Given the description of an element on the screen output the (x, y) to click on. 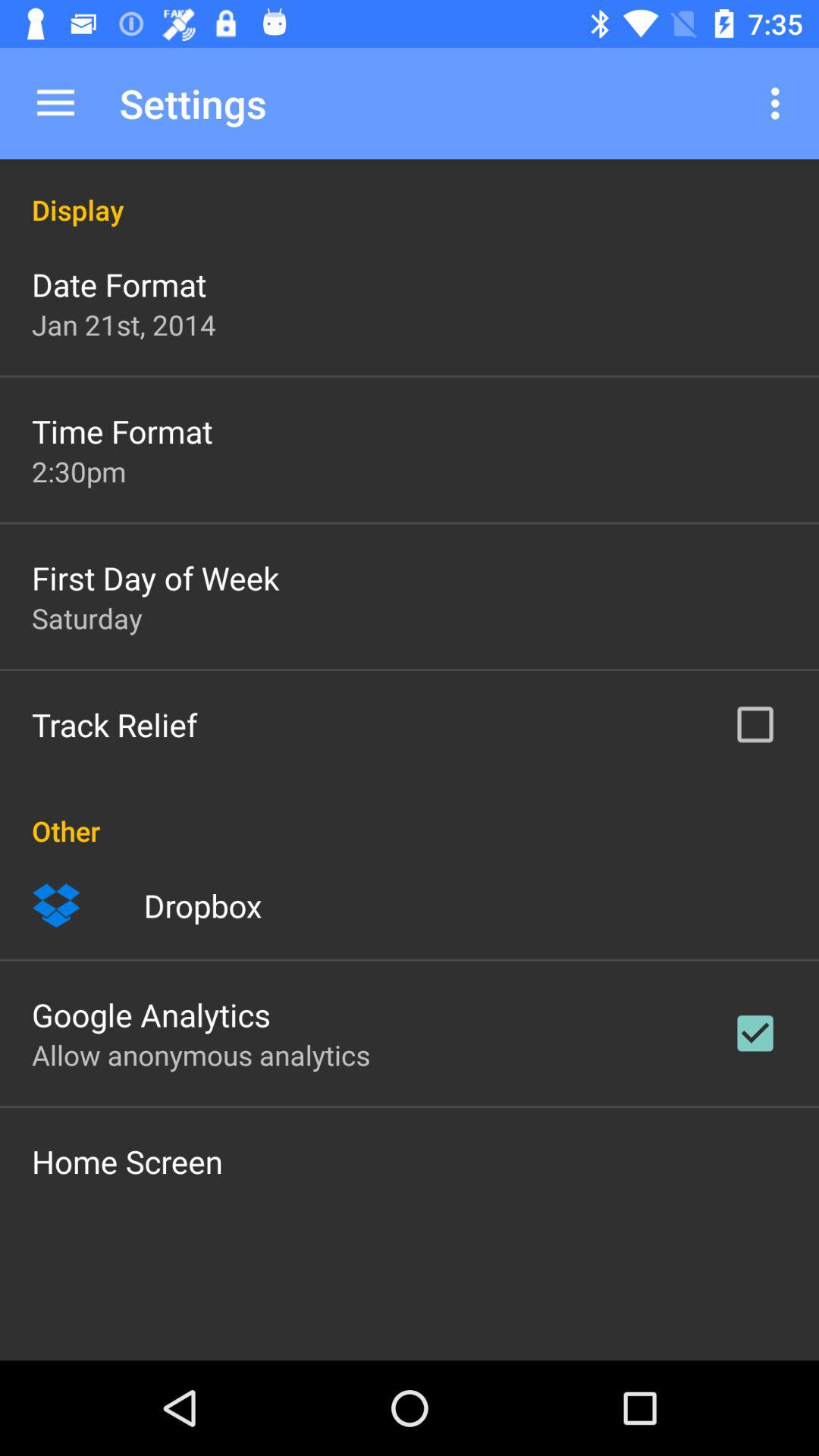
launch the 2:30pm app (78, 471)
